Given the description of an element on the screen output the (x, y) to click on. 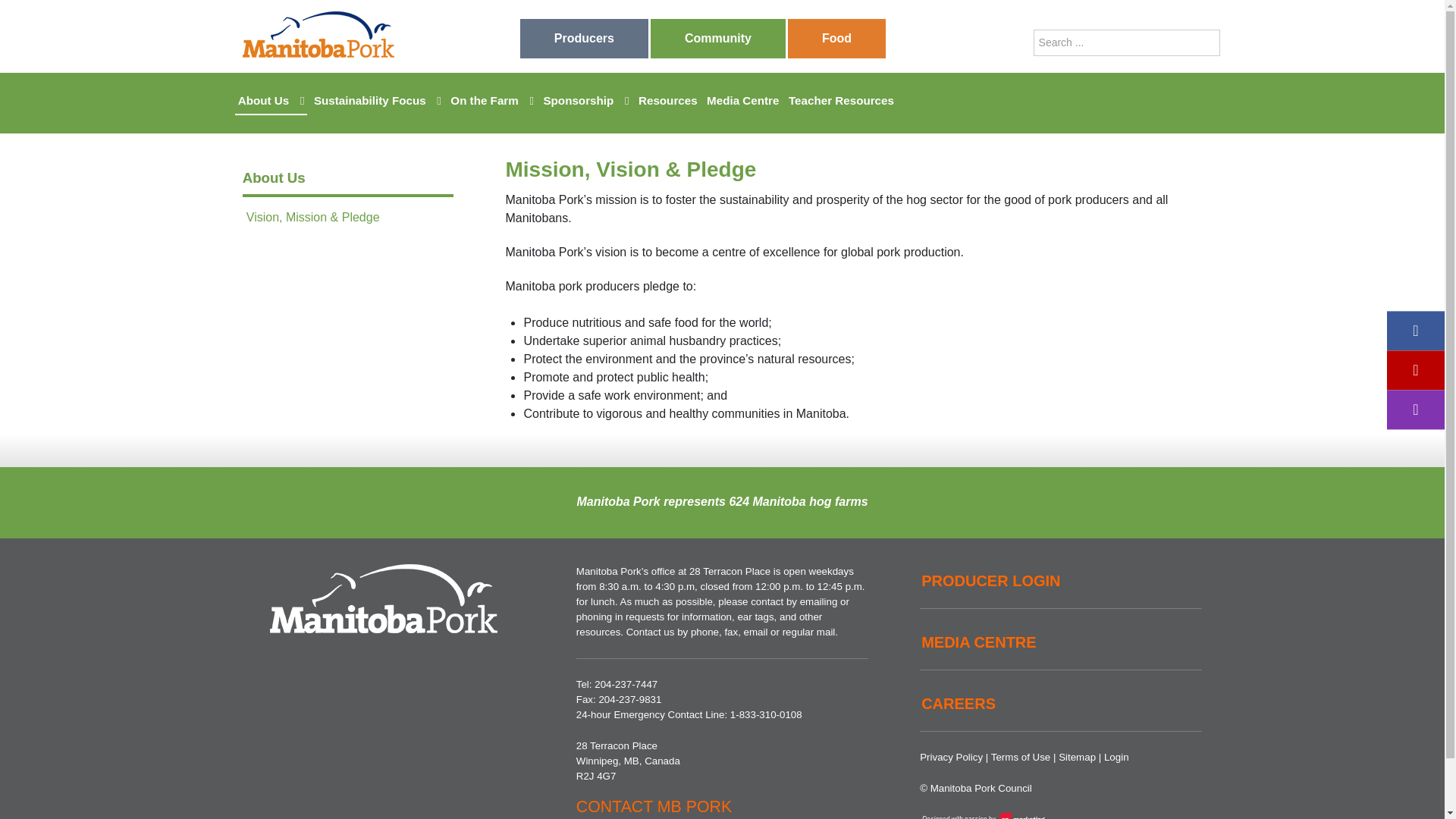
Resources (667, 100)
Community (718, 38)
Food (836, 38)
Media Centre (742, 100)
Teacher Resources (841, 100)
6P Marketing (984, 815)
Producers (583, 38)
